Given the description of an element on the screen output the (x, y) to click on. 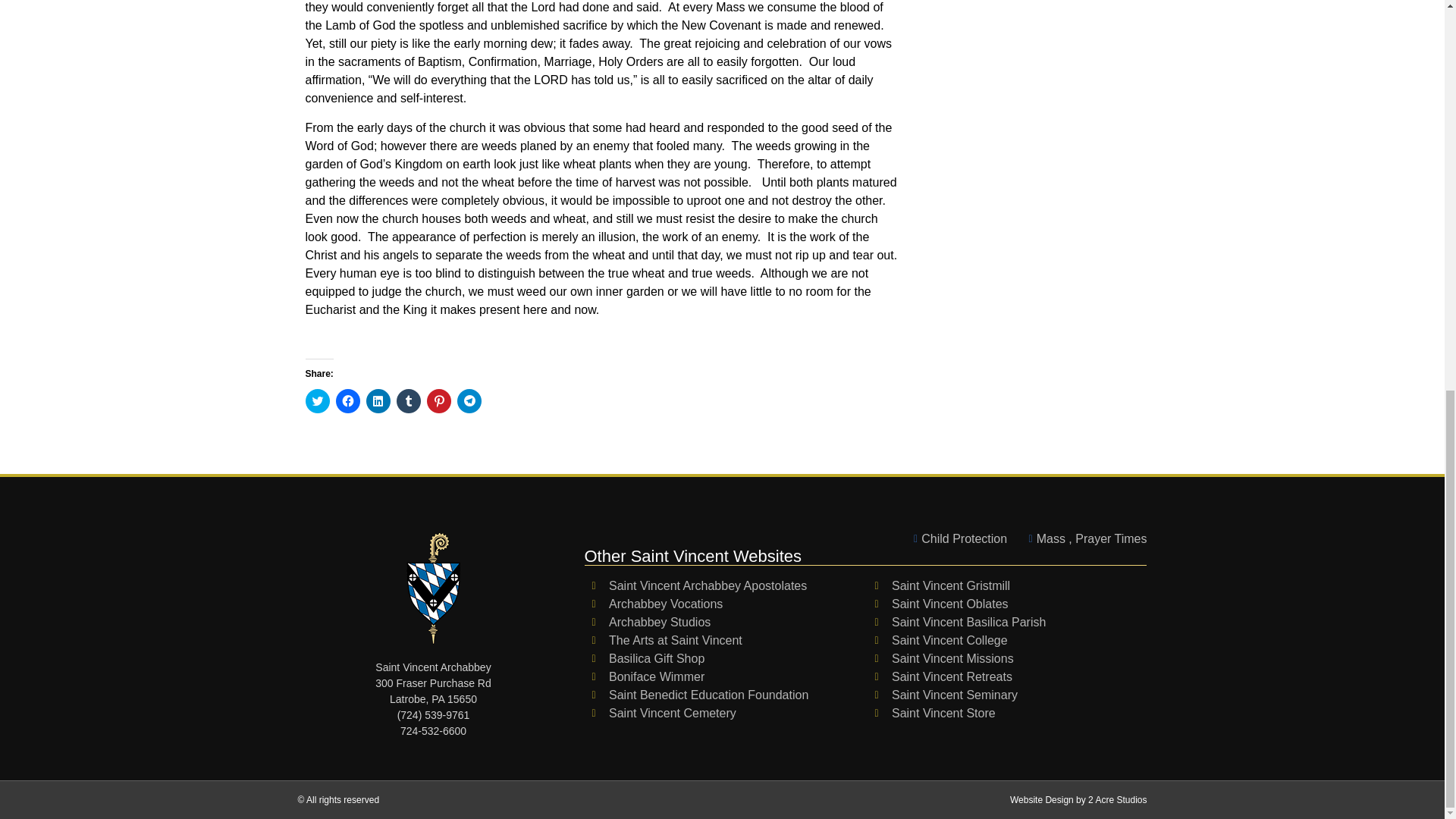
Click to share on Twitter (316, 401)
Saint Vincent Archabbey Apostolates (725, 586)
Click to share on LinkedIn (377, 401)
Click to share on Tumblr (408, 401)
Click to share on Telegram (468, 401)
Click to share on Pinterest (437, 401)
Mass , Prayer Times (1083, 538)
Child Protection (955, 538)
Archabbey Vocations (725, 604)
Click to share on Facebook (346, 401)
